Given the description of an element on the screen output the (x, y) to click on. 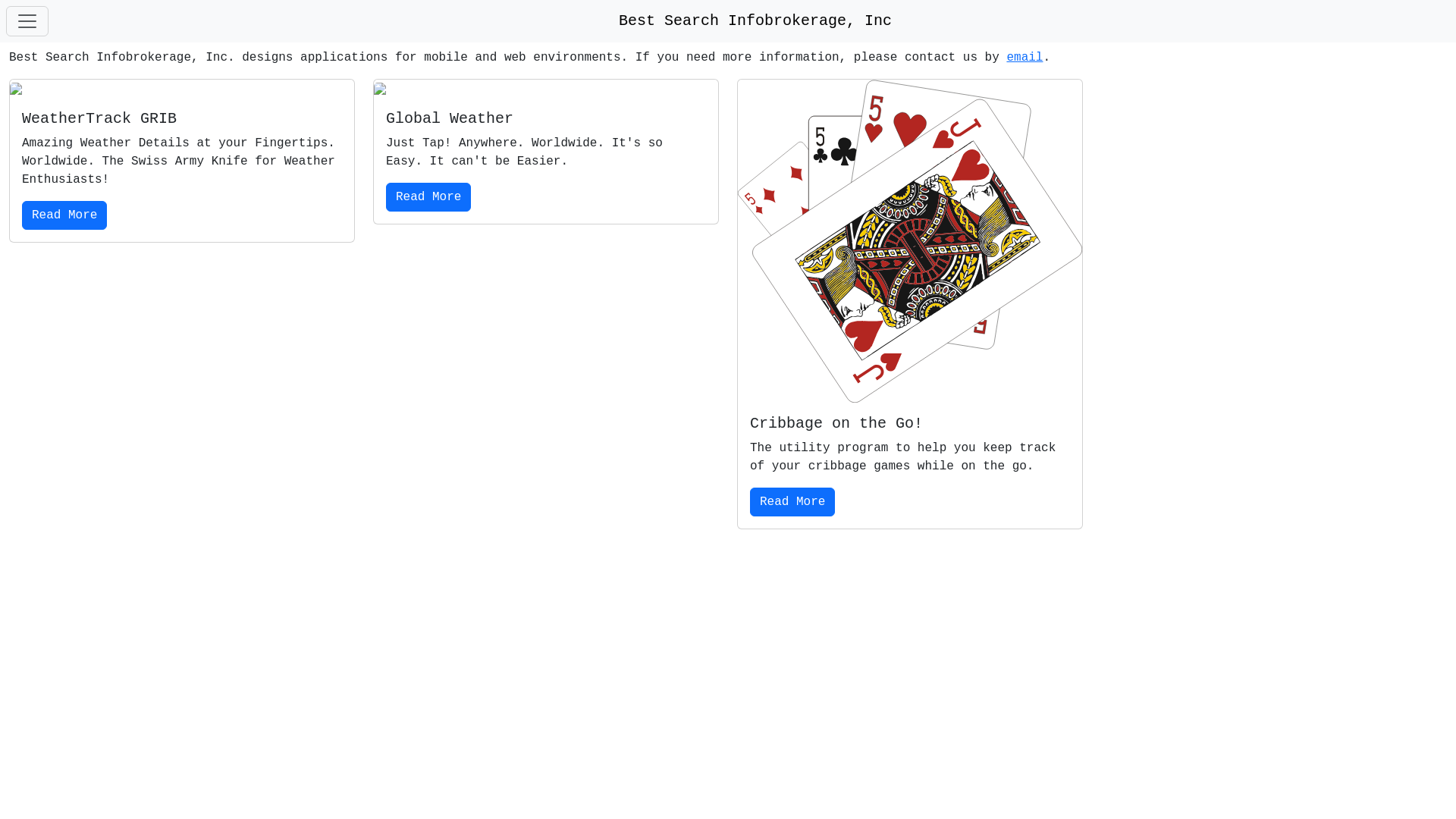
Best Search Infobrokerage, Inc Element type: text (754, 21)
email Element type: text (1024, 57)
Read More Element type: text (63, 214)
Read More Element type: text (791, 501)
Read More Element type: text (427, 196)
